Given the description of an element on the screen output the (x, y) to click on. 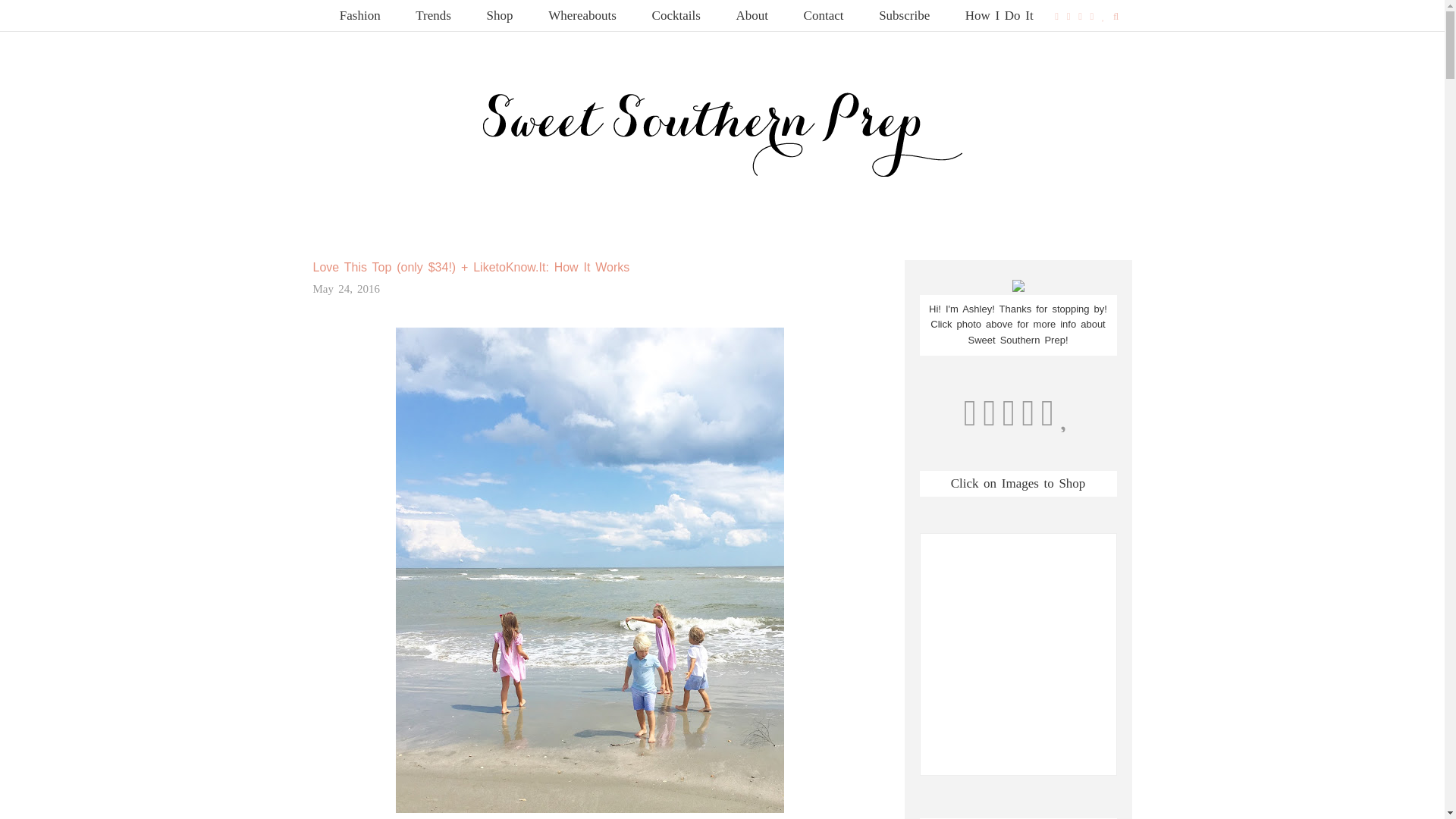
Skip To Content (319, 8)
About (751, 15)
Cocktails (676, 15)
How I Do It (999, 15)
Subscribe (903, 15)
Shop (499, 15)
Whereabouts (581, 15)
Fashion (360, 15)
Trends (432, 15)
Contact (824, 15)
